Given the description of an element on the screen output the (x, y) to click on. 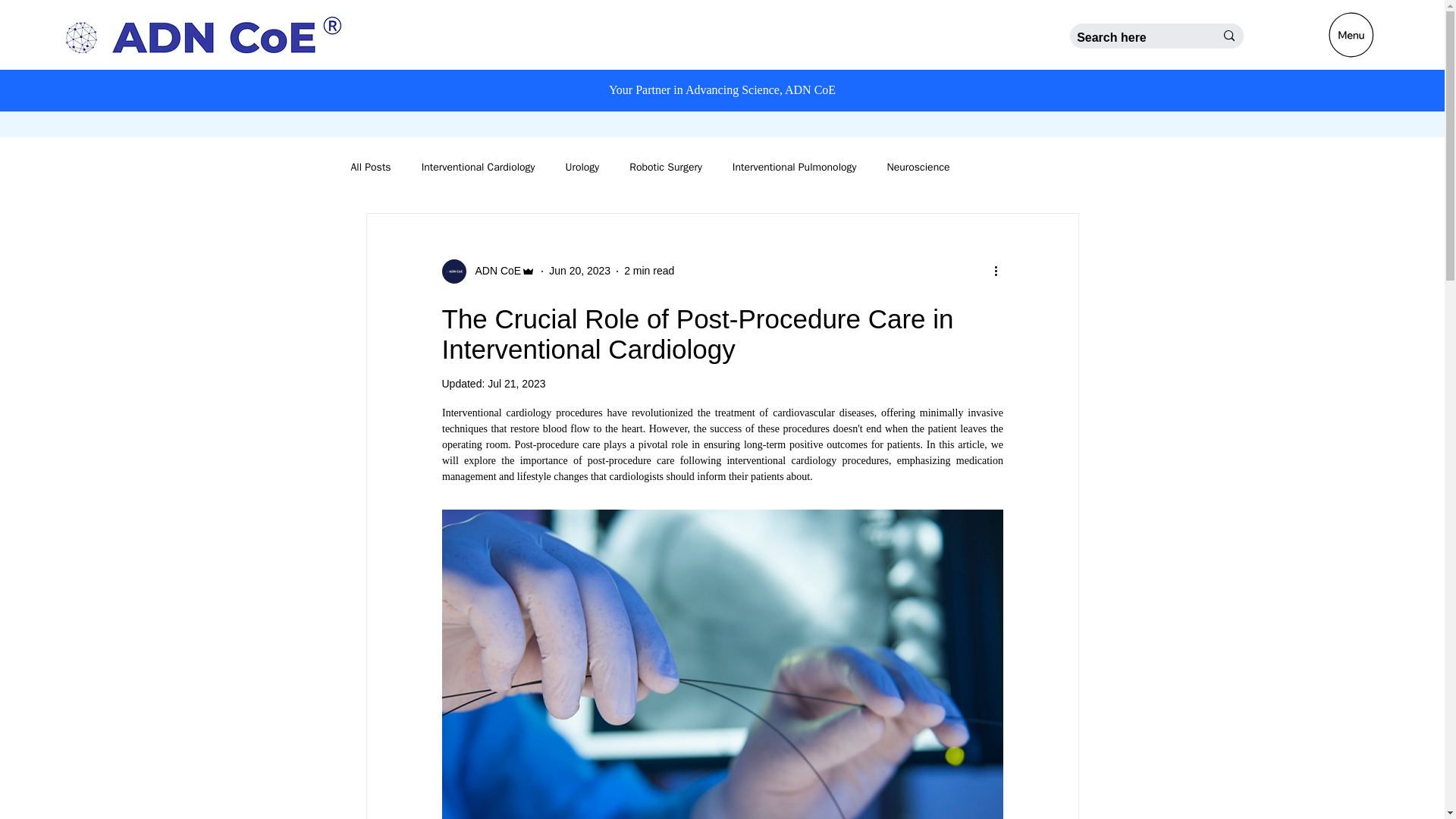
ADN CoE (488, 271)
2 min read (649, 270)
Jun 20, 2023 (579, 270)
Interventional Cardiology (478, 167)
Jul 21, 2023 (515, 383)
Neuroscience (917, 167)
Interventional Pulmonology (794, 167)
Robotic Surgery (664, 167)
Urology (581, 167)
ADN  CoE (493, 270)
All Posts (370, 167)
